Given the description of an element on the screen output the (x, y) to click on. 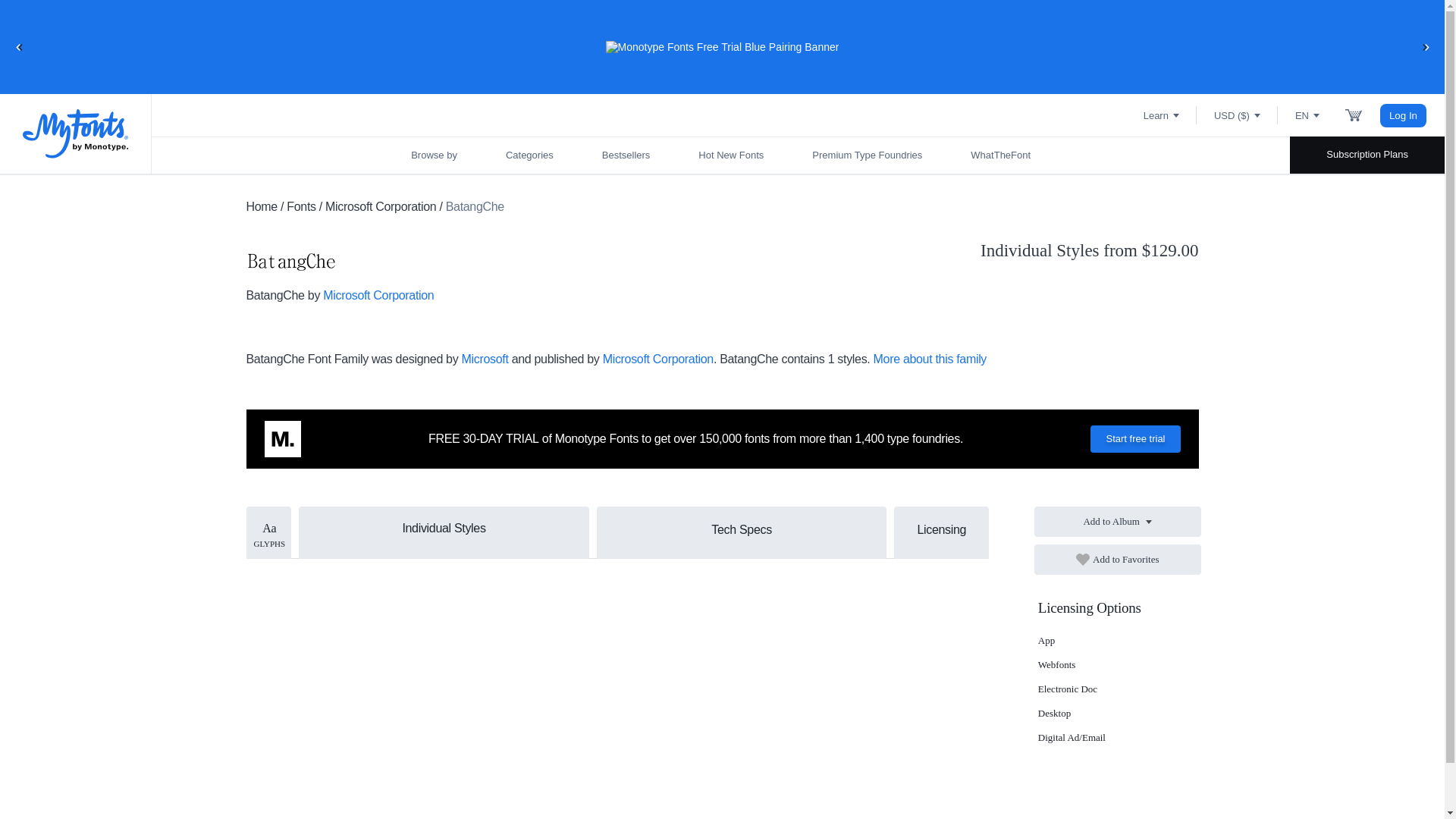
Licensing (940, 529)
Glyphs (268, 532)
Individual Styles (443, 526)
MyFonts (75, 133)
Tech Specs (741, 529)
Skip to content (72, 27)
Log In (1403, 114)
